Given the description of an element on the screen output the (x, y) to click on. 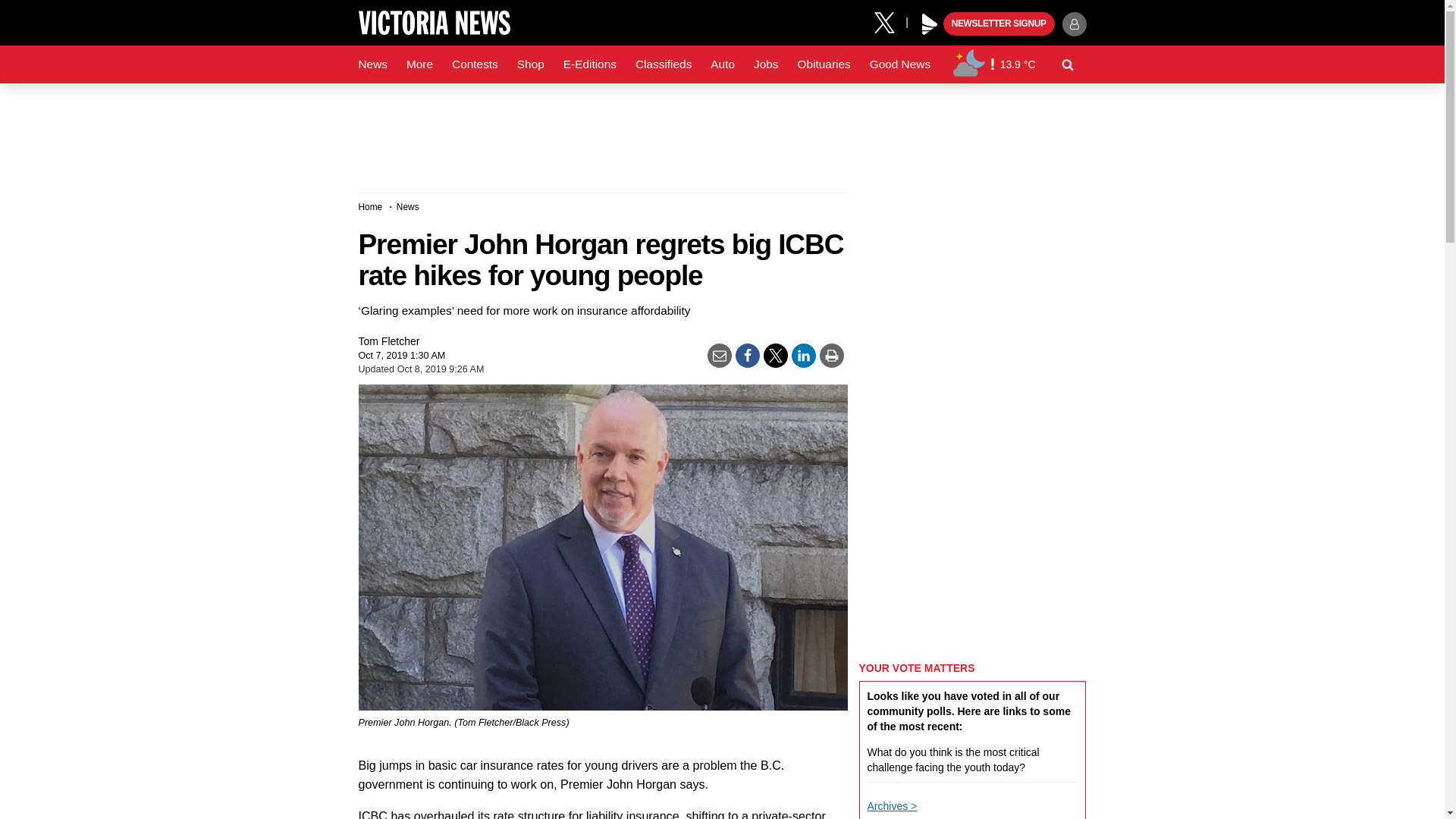
X (889, 21)
Black Press Media (929, 24)
Play (929, 24)
News (372, 64)
NEWSLETTER SIGNUP (998, 24)
3rd party ad content (721, 131)
